Given the description of an element on the screen output the (x, y) to click on. 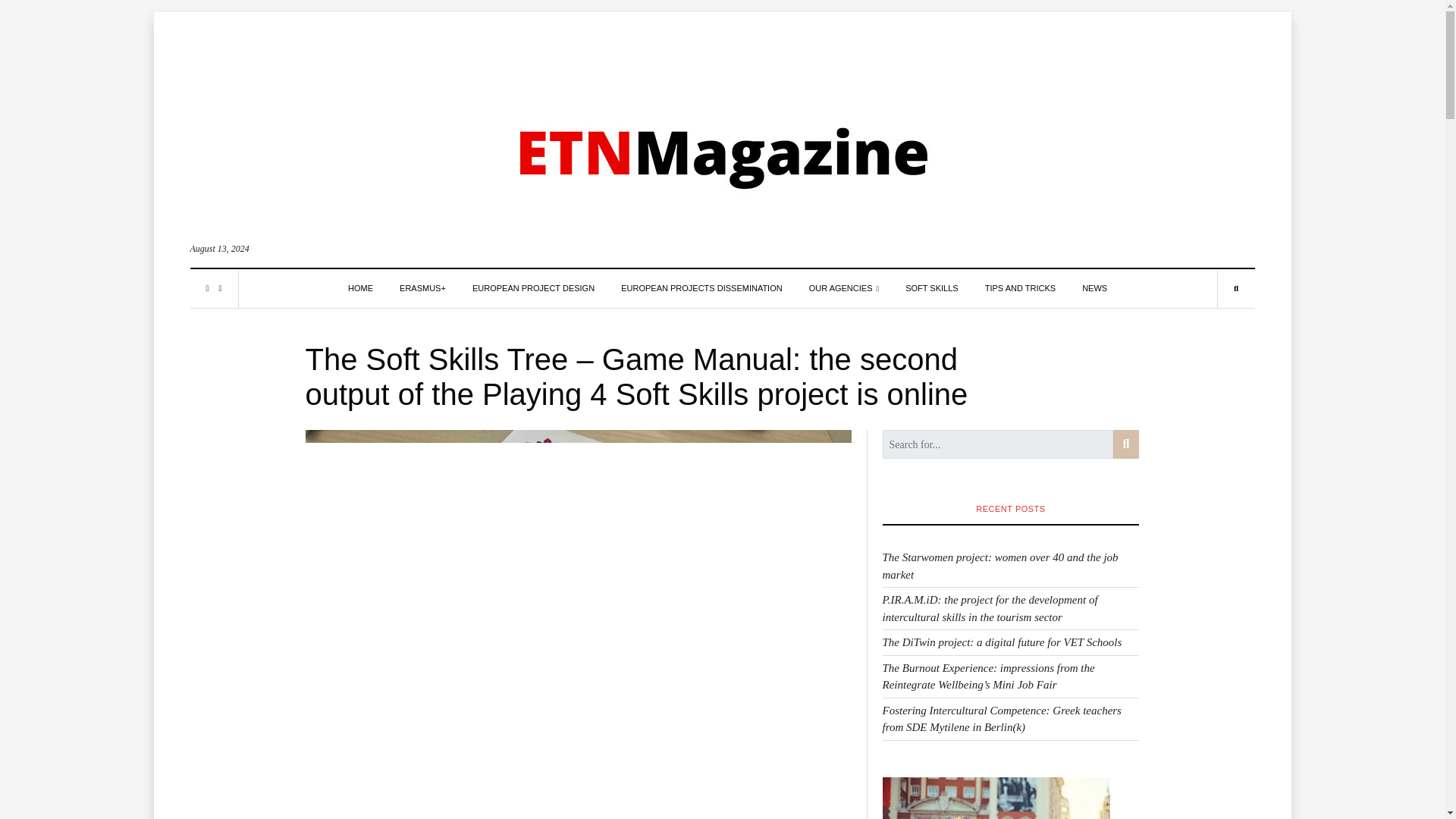
OUR AGENCIES (844, 288)
TIPS AND TRICKS (1020, 288)
EUROPEAN PROJECTS DISSEMINATION (702, 288)
EUROPEAN PROJECT DESIGN (532, 288)
SOFT SKILLS (931, 288)
